Given the description of an element on the screen output the (x, y) to click on. 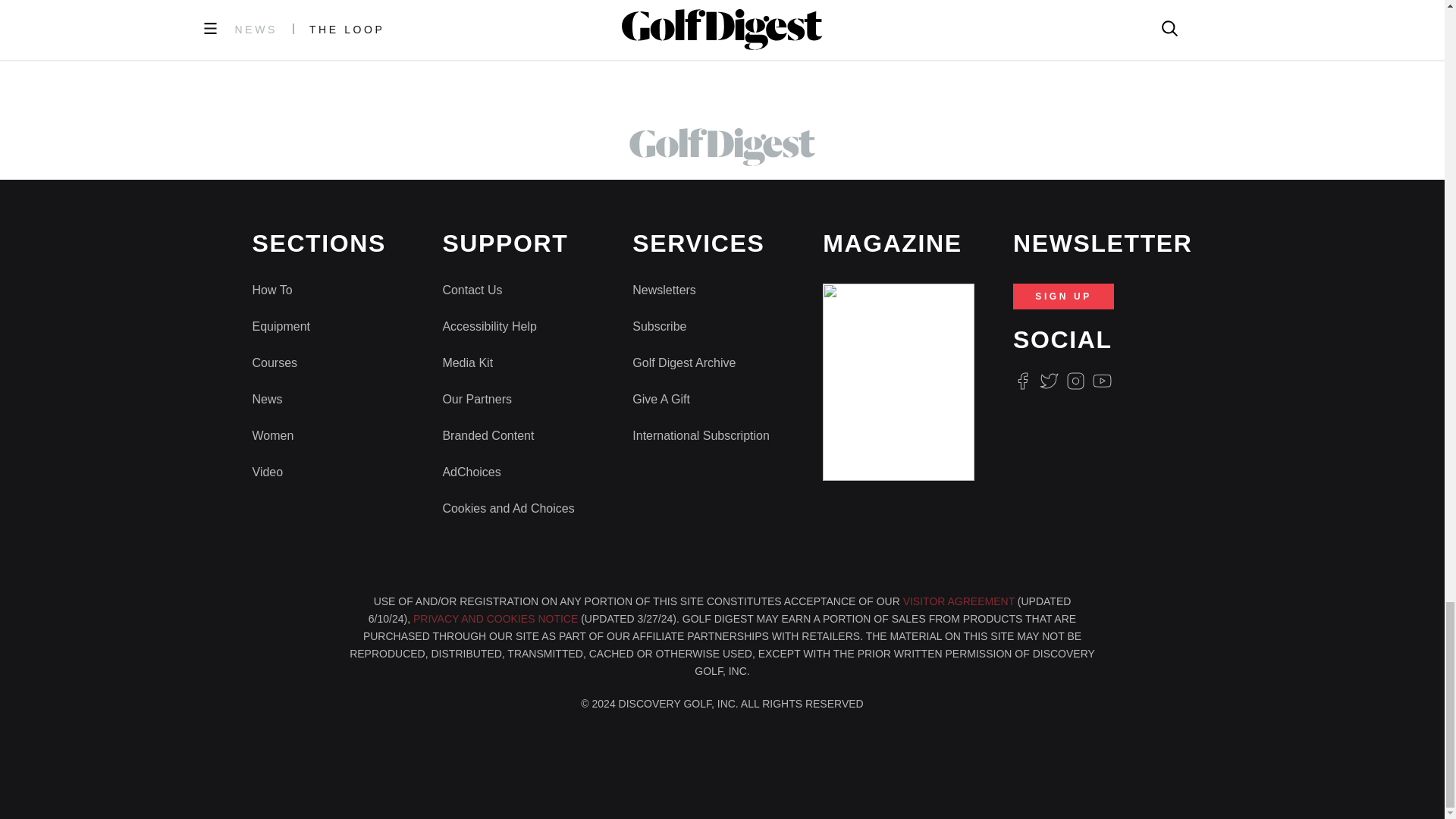
Instagram Logo (1074, 380)
Youtube Icon (1102, 380)
Facebook Logo (1022, 380)
Twitter Logo (1048, 380)
